Given the description of an element on the screen output the (x, y) to click on. 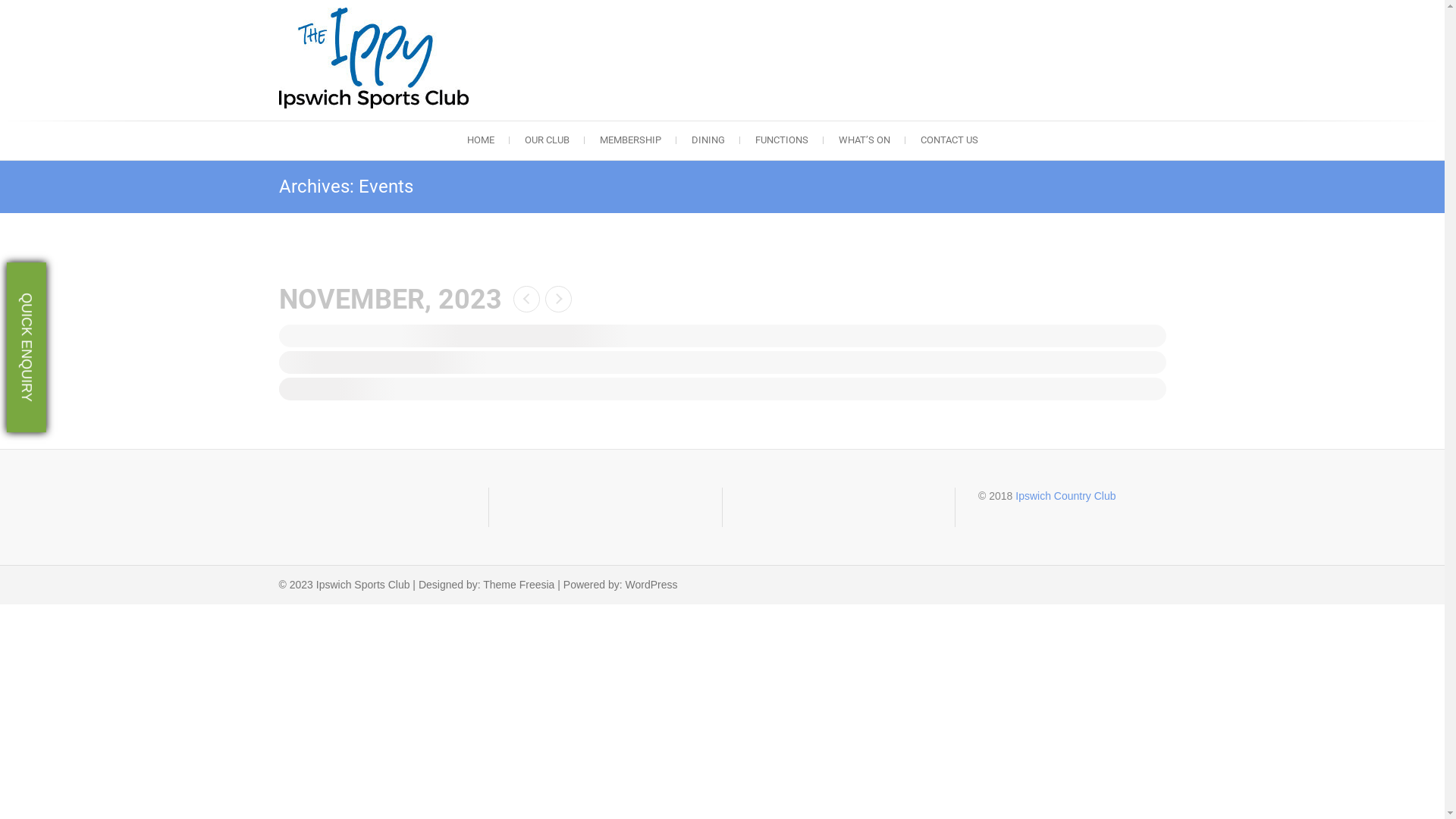
Ipswich Sports Club Element type: text (559, 128)
DINING Element type: text (708, 140)
HOME Element type: text (480, 140)
Theme Freesia Element type: text (518, 584)
CONTACT US Element type: text (949, 140)
QUICK ENQUIRY Element type: text (90, 281)
Ipswich Sports Club Element type: hover (377, 57)
Ipswich Sports Club Element type: text (363, 584)
OUR CLUB Element type: text (546, 140)
FUNCTIONS Element type: text (781, 140)
Ipswich Country Club Element type: text (1065, 495)
MEMBERSHIP Element type: text (629, 140)
WordPress Element type: text (651, 584)
